Given the description of an element on the screen output the (x, y) to click on. 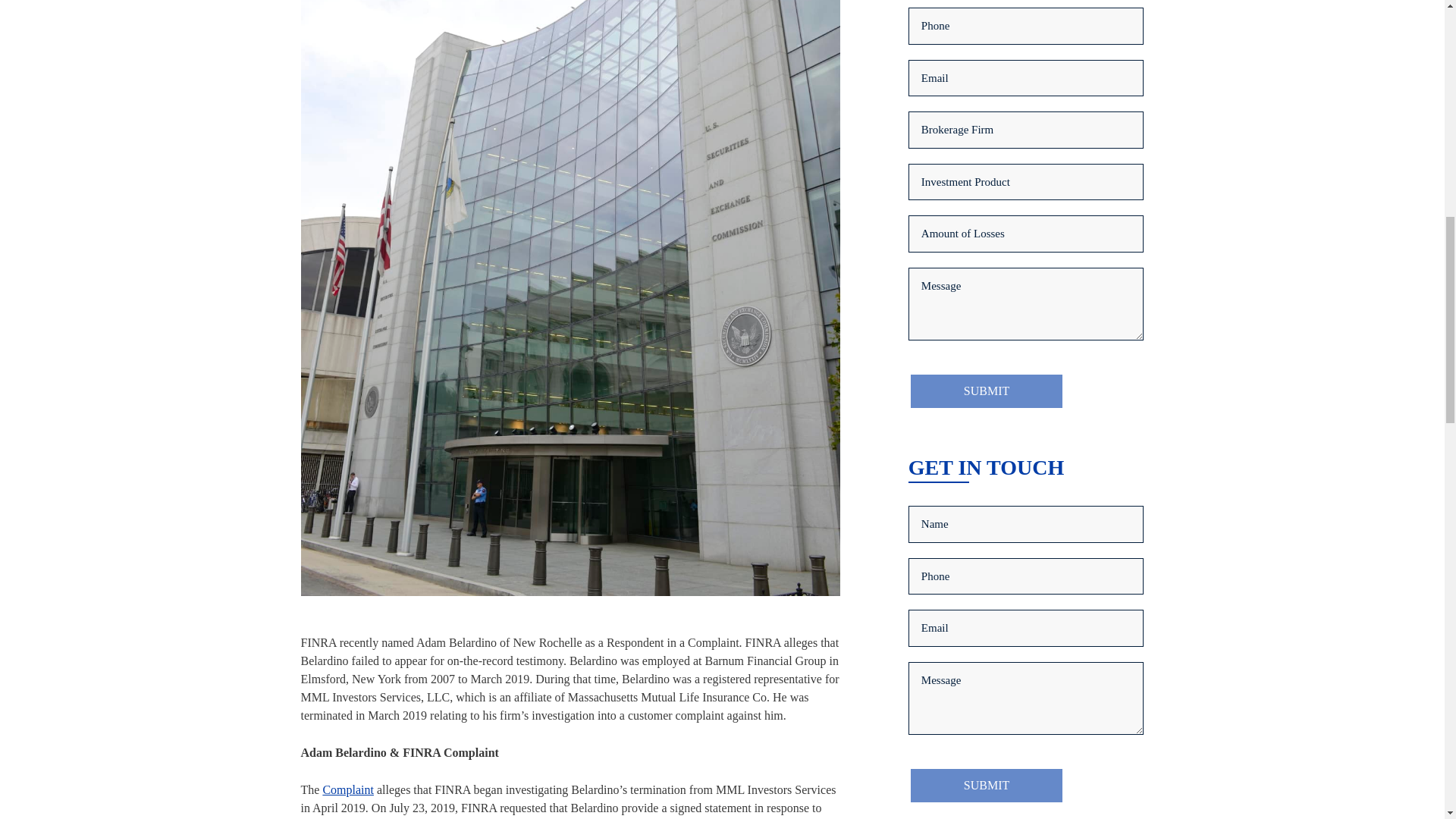
Complaint (347, 789)
Submit (986, 391)
Submit (986, 785)
Submit (986, 391)
Submit (986, 785)
